Given the description of an element on the screen output the (x, y) to click on. 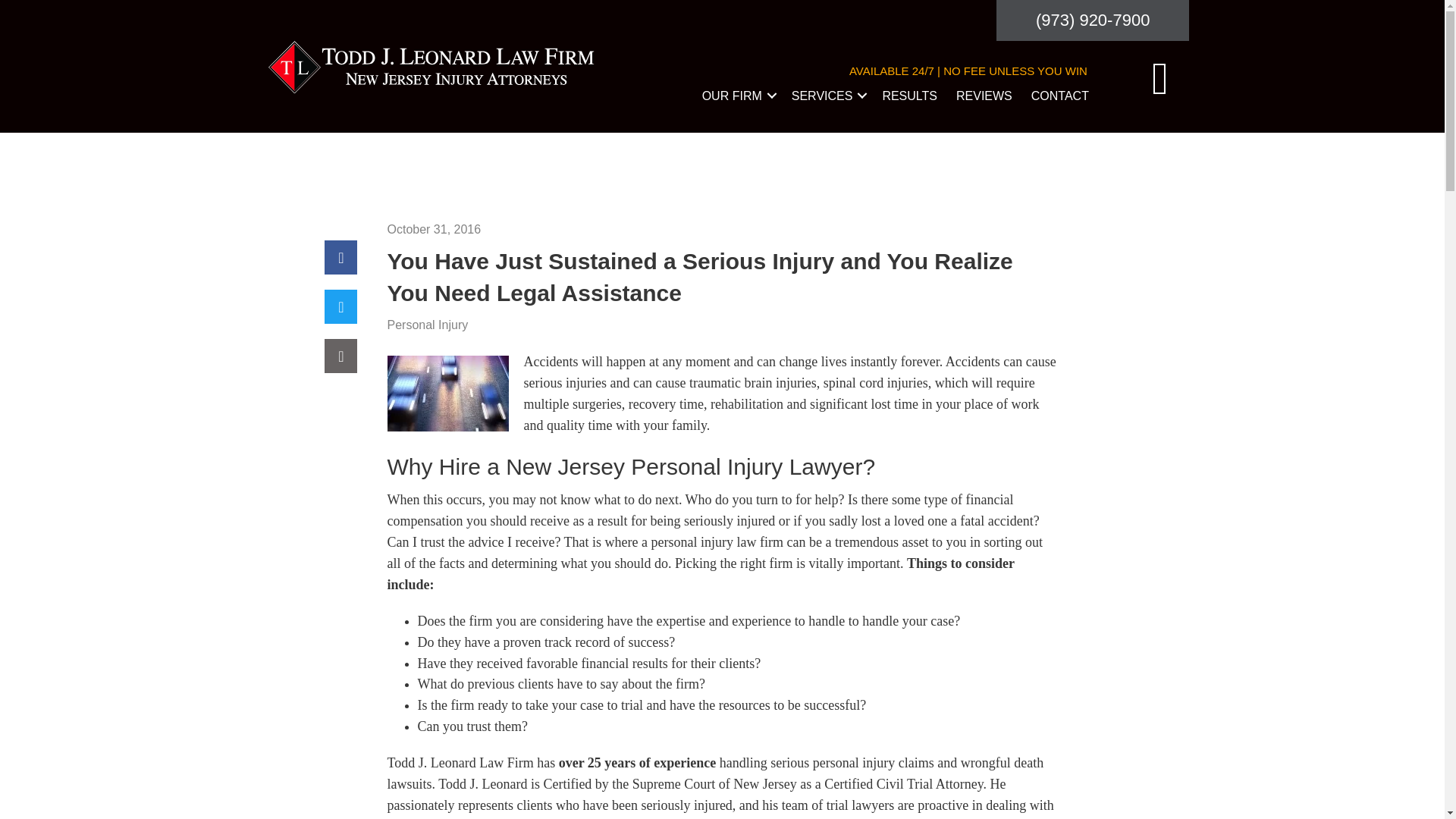
SERVICES (827, 105)
Todd J. Leonard Law Firm (432, 67)
OUR FIRM (737, 105)
